Given the description of an element on the screen output the (x, y) to click on. 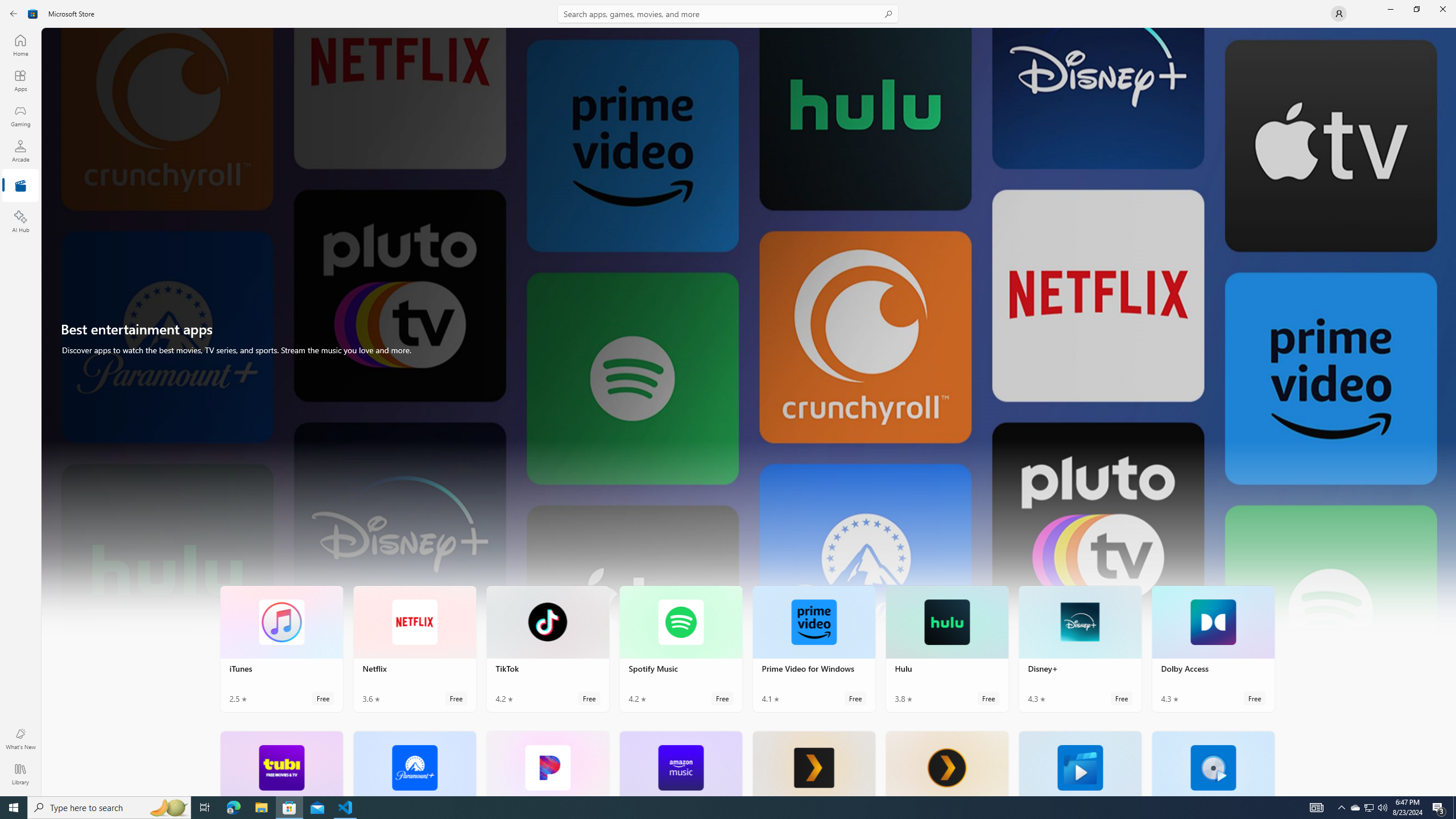
Close Microsoft Store (1442, 9)
Minimize Microsoft Store (1390, 9)
Back (13, 13)
User profile (1338, 13)
Search (727, 13)
iTunes. Average rating of 2.5 out of five stars. Free   (281, 648)
Arcade (20, 150)
AutomationID: HeroImage (749, 337)
Netflix. Average rating of 3.6 out of five stars. Free   (414, 648)
Apps (20, 80)
Hulu. Average rating of 3.8 out of five stars. Free   (947, 648)
Library (20, 773)
